Given the description of an element on the screen output the (x, y) to click on. 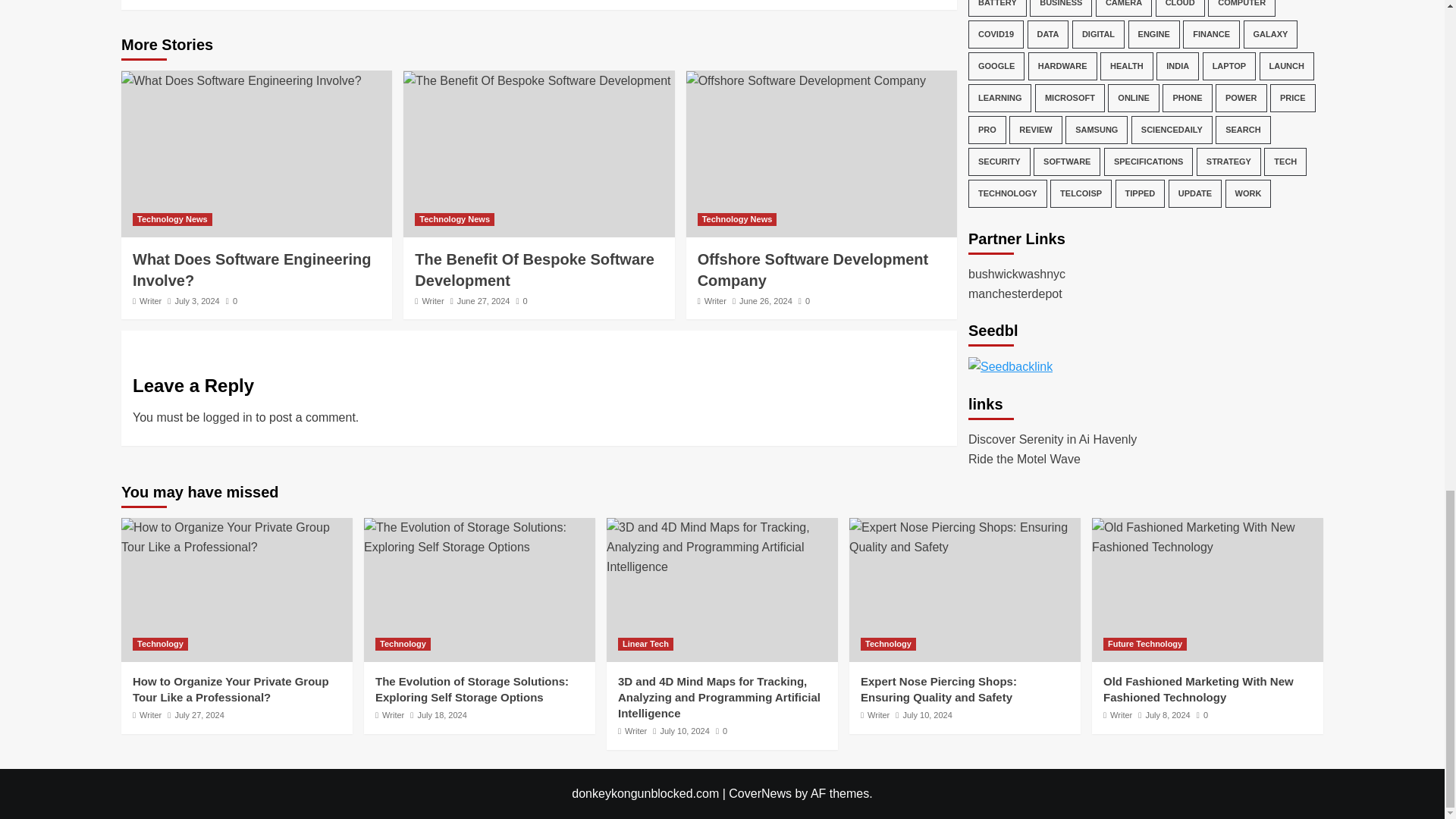
Seedbacklink (1010, 275)
0 (521, 300)
What Does Software Engineering Involve? (251, 269)
Writer (150, 300)
Technology News (454, 219)
0 (231, 300)
June 27, 2024 (484, 300)
What Does Software Engineering Involve? (240, 80)
How to Organize Your Private Group Tour Like a Professional? (236, 536)
Technology News (737, 219)
